Given the description of an element on the screen output the (x, y) to click on. 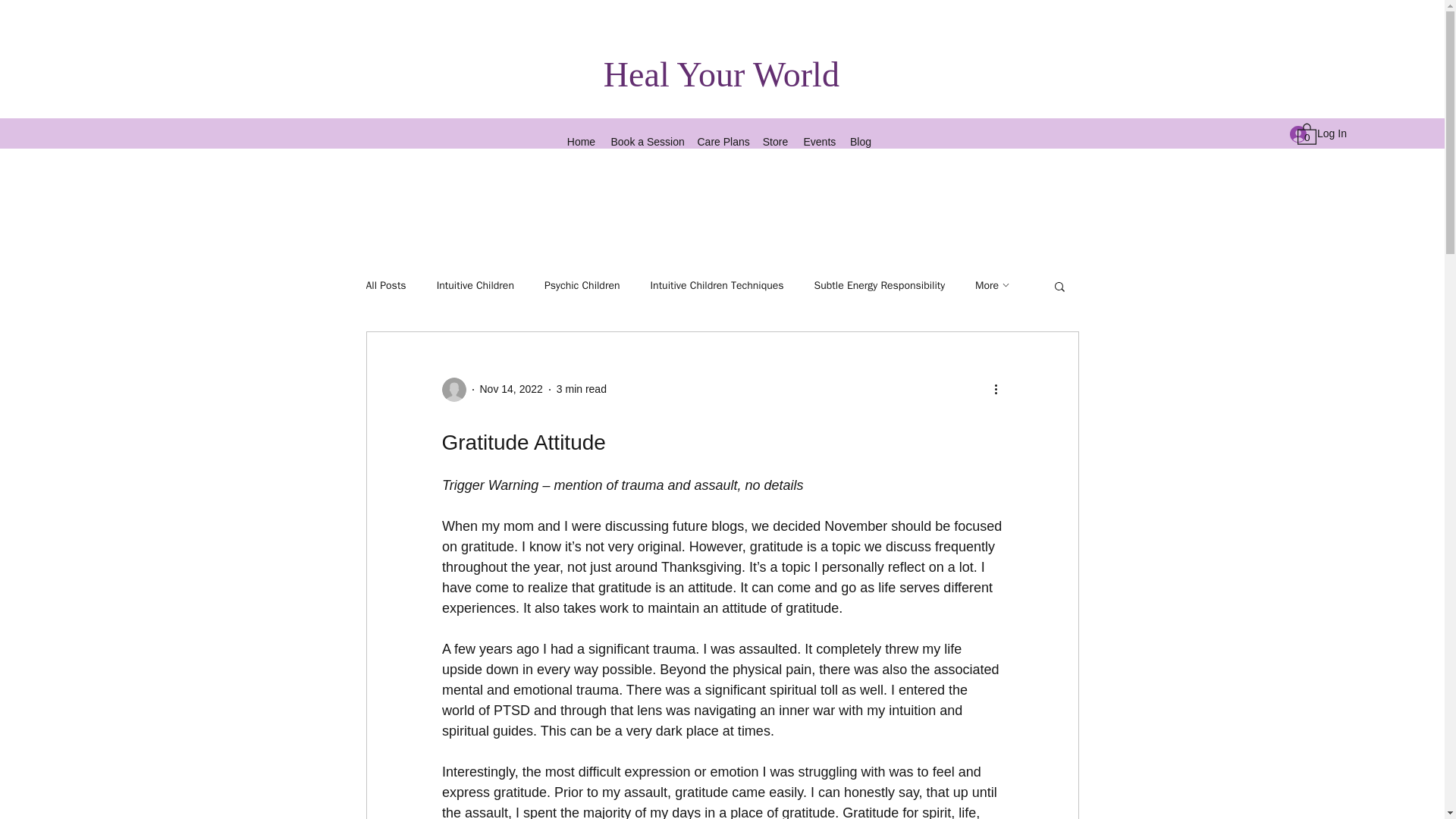
Intuitive Children (474, 285)
Heal Your World (722, 74)
Book a Session (645, 141)
Subtle Energy Responsibility (878, 285)
Home (580, 141)
Care Plans (721, 141)
Psychic Children (582, 285)
Nov 14, 2022 (510, 388)
All Posts (385, 285)
Blog (860, 141)
